Given the description of an element on the screen output the (x, y) to click on. 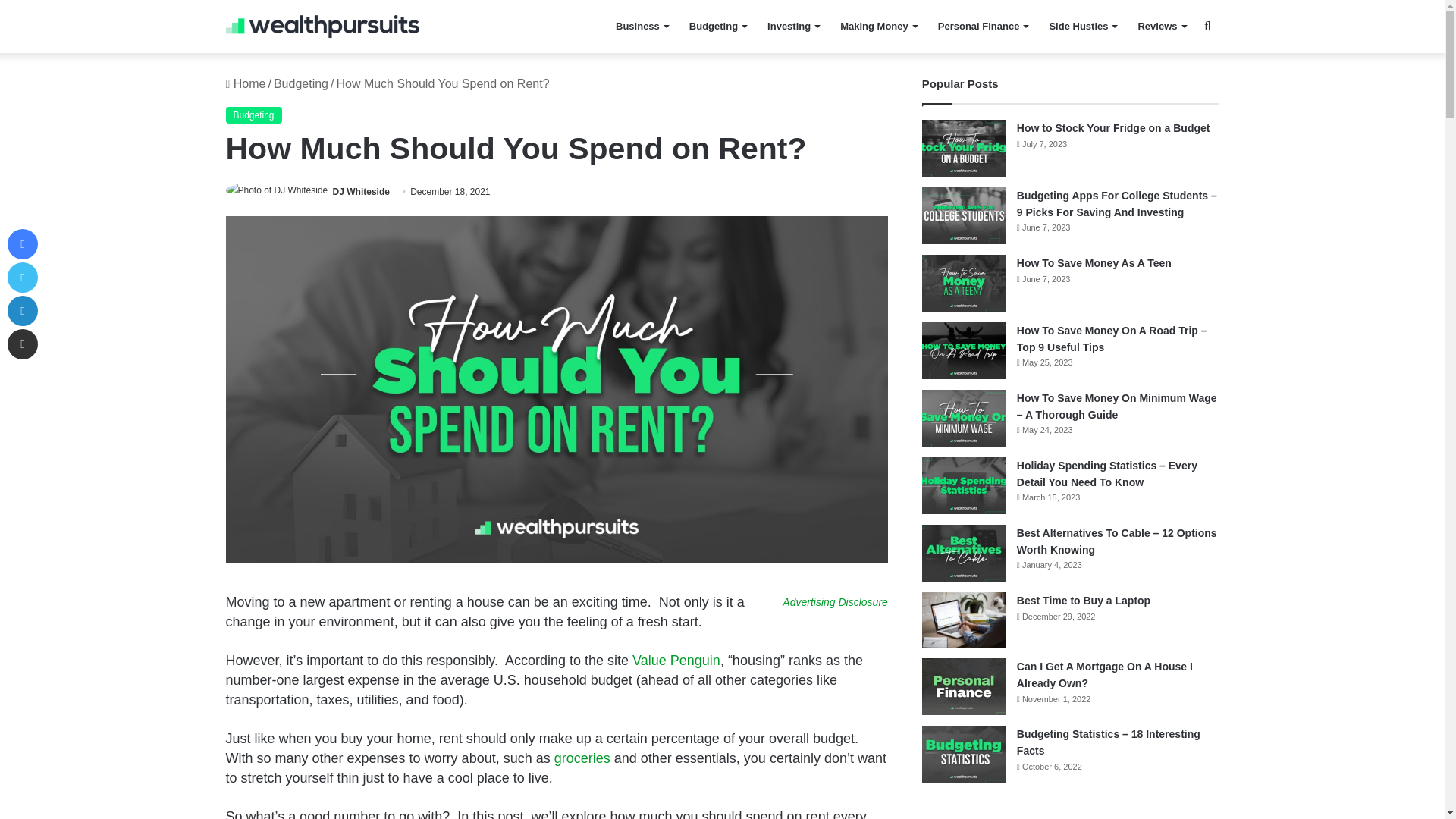
Share via Email (22, 344)
Making Money (878, 26)
Budgeting (717, 26)
Personal Finance (983, 26)
Wealth Pursuits (322, 26)
Twitter (22, 277)
Investing (793, 26)
Business (641, 26)
DJ Whiteside (361, 191)
Facebook (22, 244)
LinkedIn (22, 310)
